Given the description of an element on the screen output the (x, y) to click on. 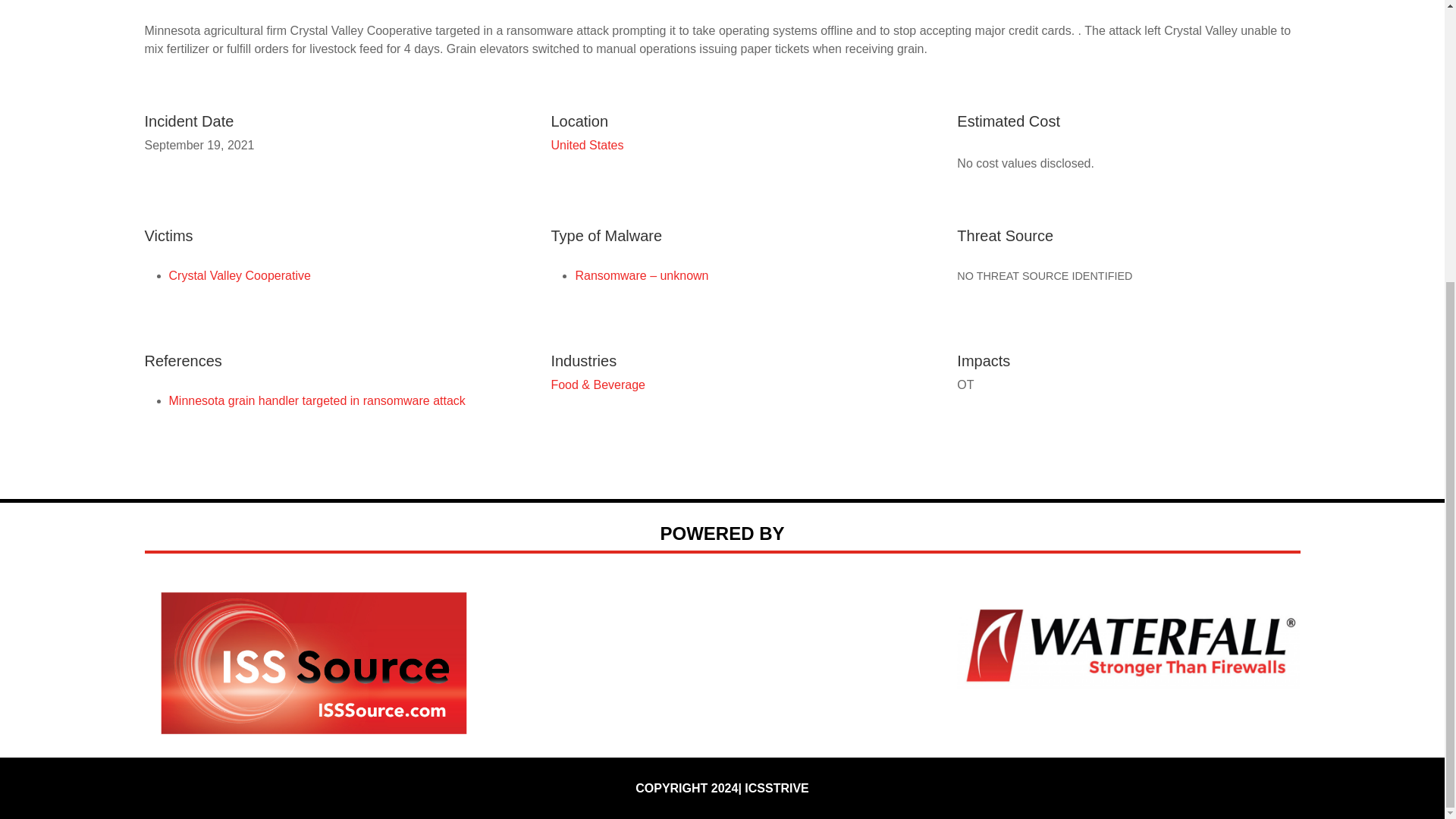
Crystal Valley Cooperative (239, 275)
United States (586, 144)
Minnesota grain handler targeted in ransomware attack (316, 400)
